Given the description of an element on the screen output the (x, y) to click on. 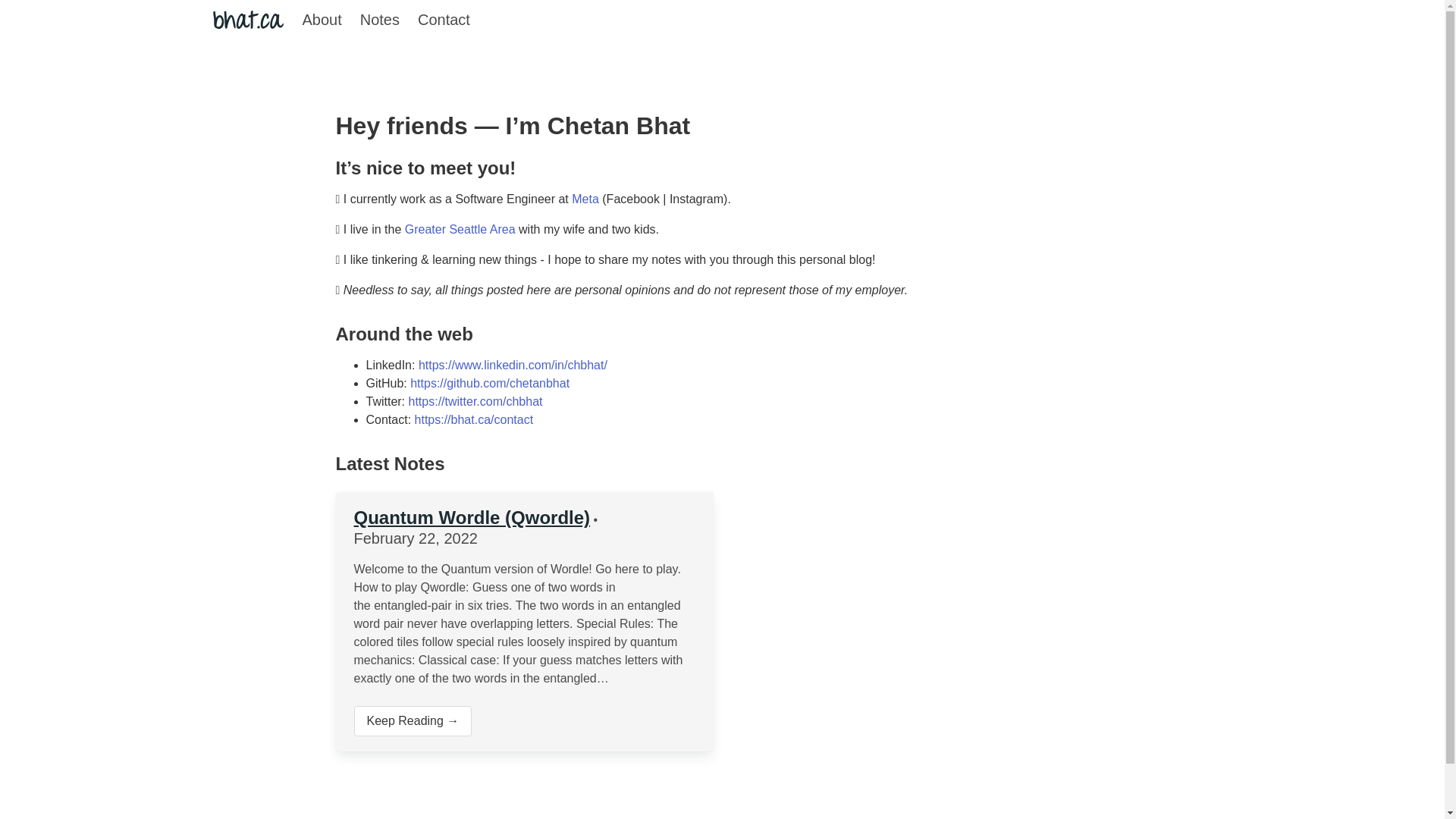
https://twitter.com/chbhat Element type: text (475, 401)
Quantum Wordle (Qwordle) Element type: text (471, 517)
Chetan Bhat - Home Element type: hover (247, 19)
Greater Seattle Area Element type: text (459, 228)
Contact Element type: text (443, 19)
About Element type: text (321, 19)
Notes Element type: text (379, 19)
https://www.linkedin.com/in/chbhat/ Element type: text (512, 364)
https://bhat.ca/contact Element type: text (473, 419)
Meta Element type: text (586, 198)
https://github.com/chetanbhat Element type: text (489, 382)
